Given the description of an element on the screen output the (x, y) to click on. 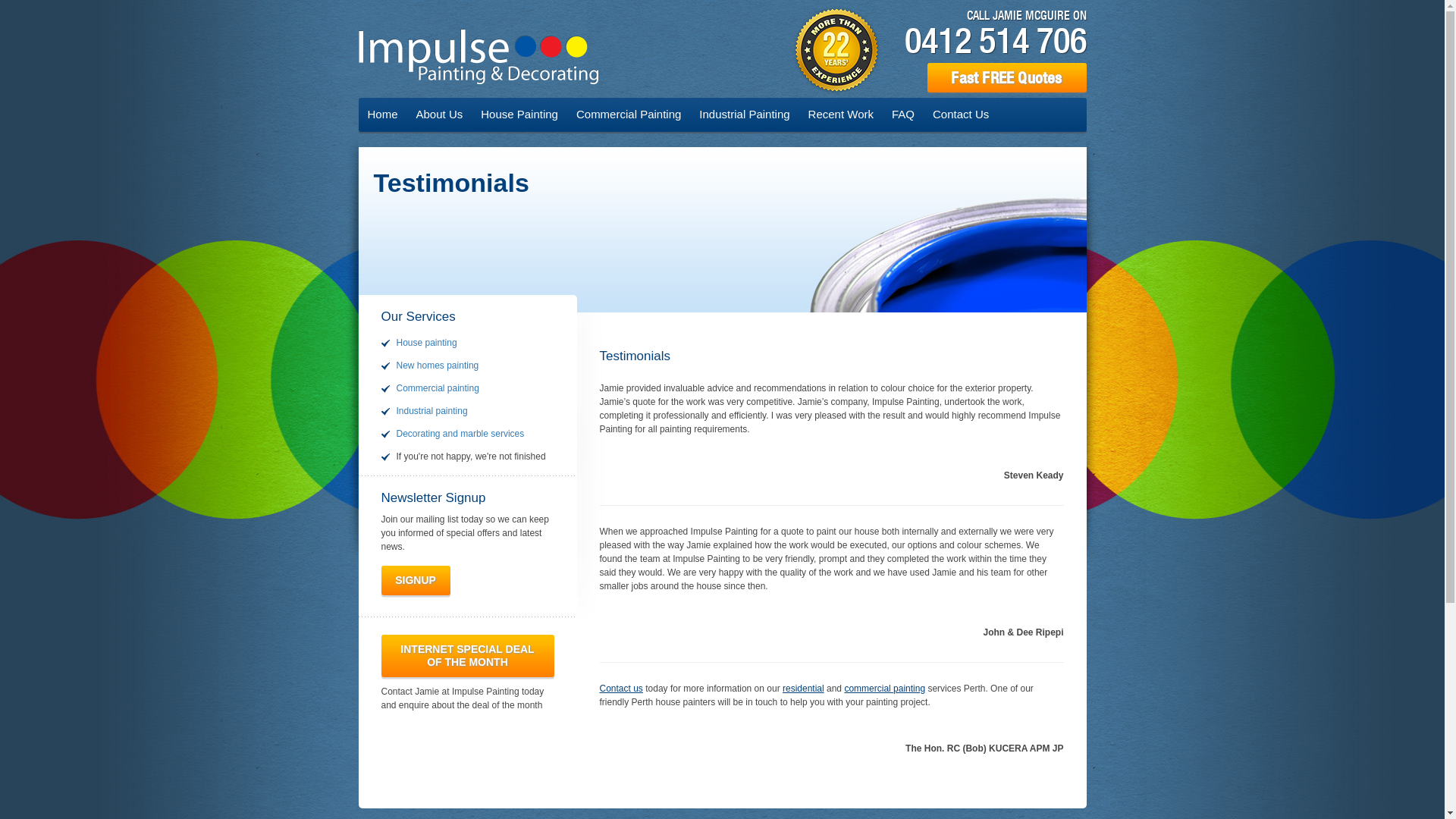
Industrial painting Element type: text (431, 410)
About Us Element type: text (439, 113)
INTERNET SPECIAL DEAL OF THE MONTH Element type: text (466, 655)
SIGNUP Element type: text (414, 580)
Commercial Painting Element type: text (628, 113)
Contact Us Element type: text (960, 113)
Industrial Painting Element type: text (744, 113)
Fast FREE Quotes Element type: text (1005, 77)
residential Element type: text (803, 688)
Contact us Element type: text (620, 688)
Home Element type: text (381, 113)
New homes painting Element type: text (436, 365)
Recent Work Element type: text (840, 113)
House painting Element type: text (425, 342)
FAQ Element type: text (902, 113)
Commercial painting Element type: text (436, 387)
commercial painting Element type: text (884, 688)
Decorating and marble services Element type: text (459, 433)
House Painting Element type: text (519, 113)
